Given the description of an element on the screen output the (x, y) to click on. 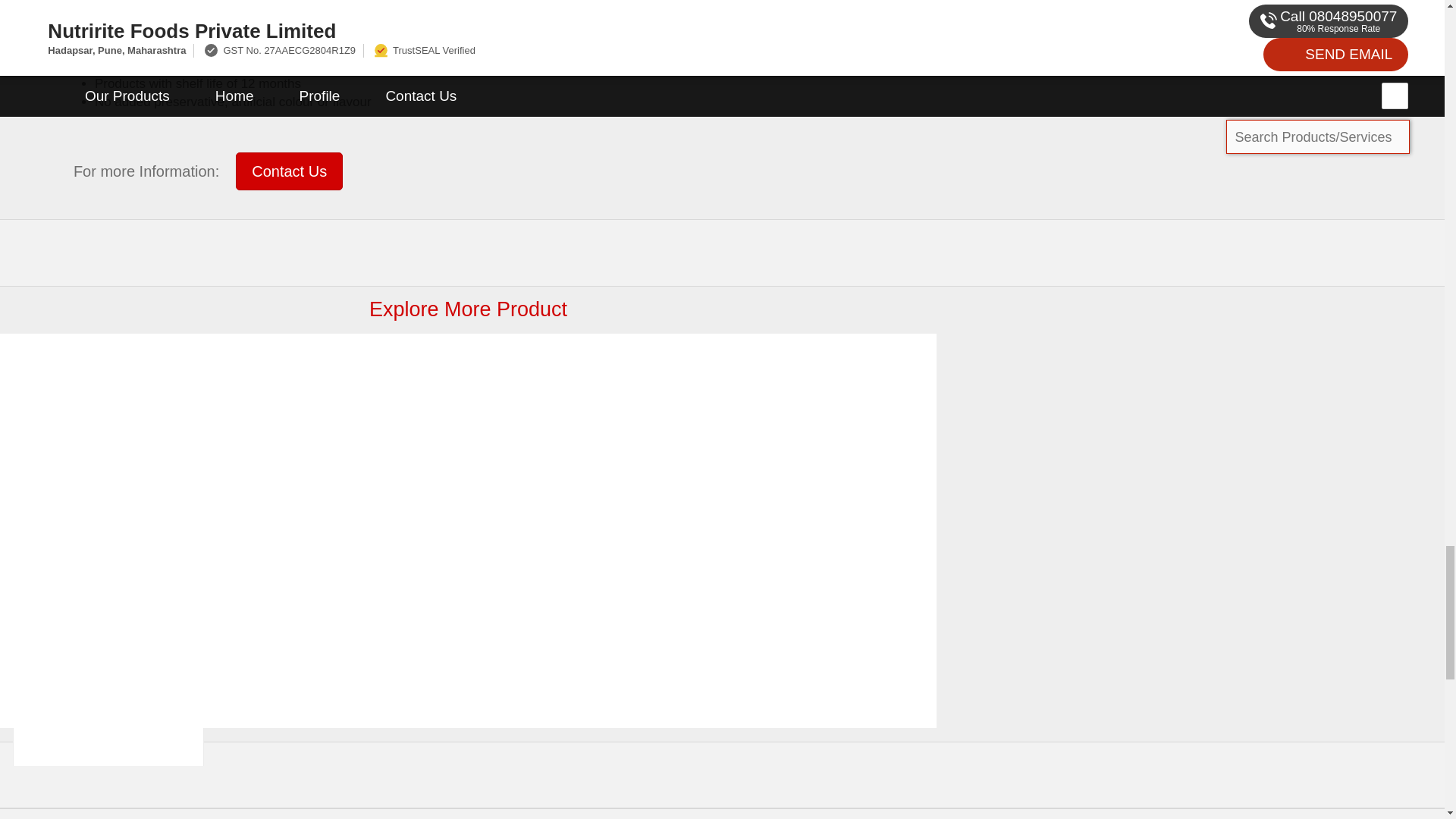
Frozen Veg Burger Patty (108, 506)
